Given the description of an element on the screen output the (x, y) to click on. 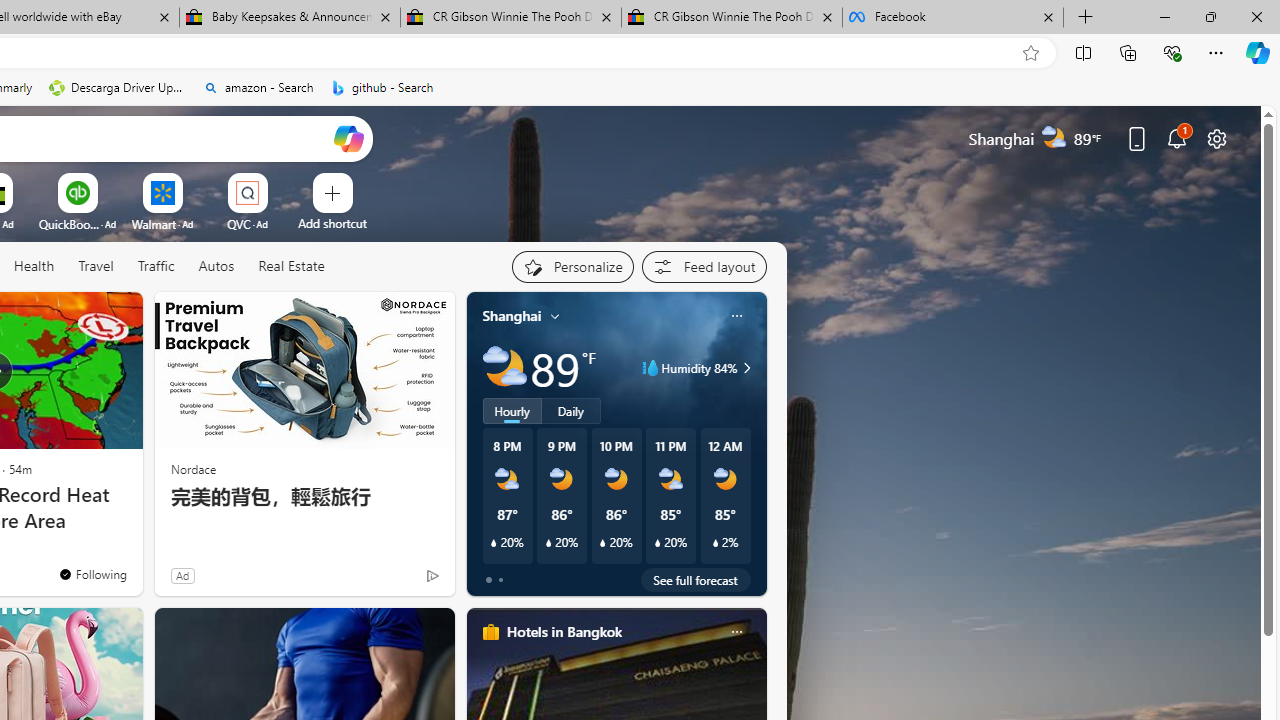
Hotels in Bangkok (563, 631)
Partly cloudy (504, 368)
My location (555, 315)
Page settings (1216, 138)
Hide this story (82, 315)
Daily (571, 411)
You're following The Weather Channel (92, 573)
Humidity 84% (744, 367)
